Given the description of an element on the screen output the (x, y) to click on. 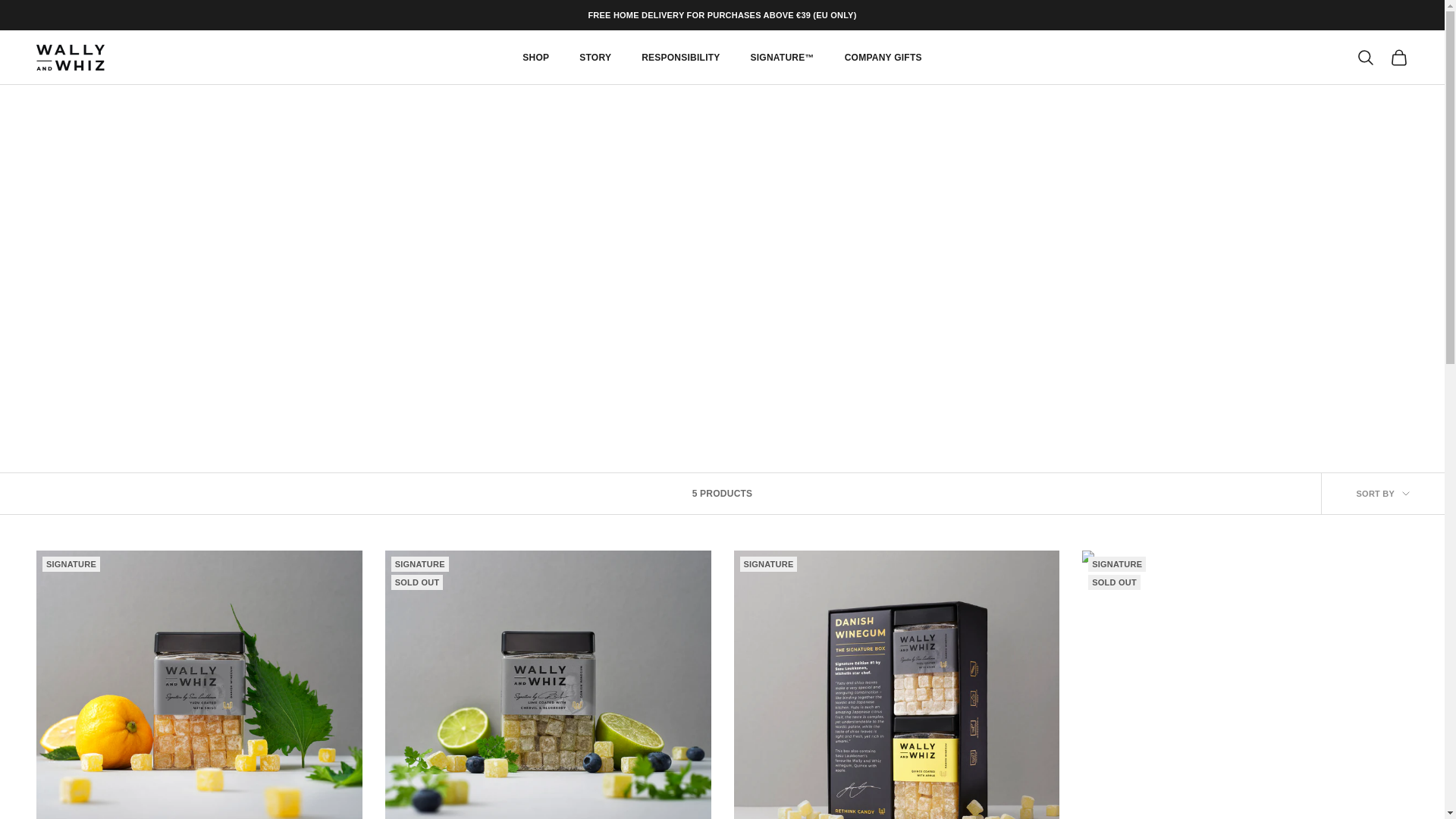
Wally and Whiz International (70, 57)
RESPONSIBILITY (680, 57)
STORY (595, 57)
COMPANY GIFTS (882, 57)
Open cart (1398, 57)
Open search (1365, 57)
